Given the description of an element on the screen output the (x, y) to click on. 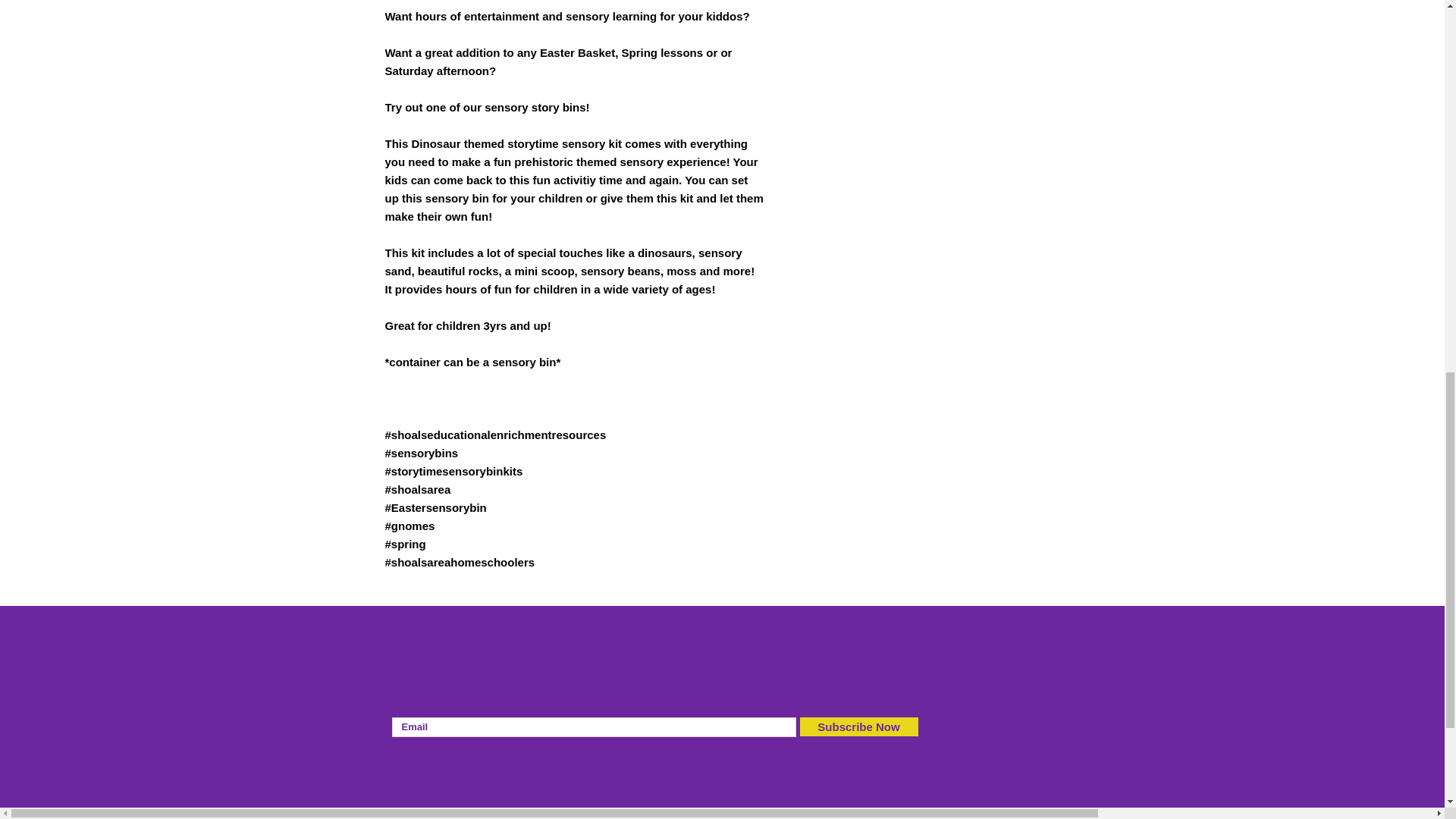
Subscribe Now (858, 726)
